Given the description of an element on the screen output the (x, y) to click on. 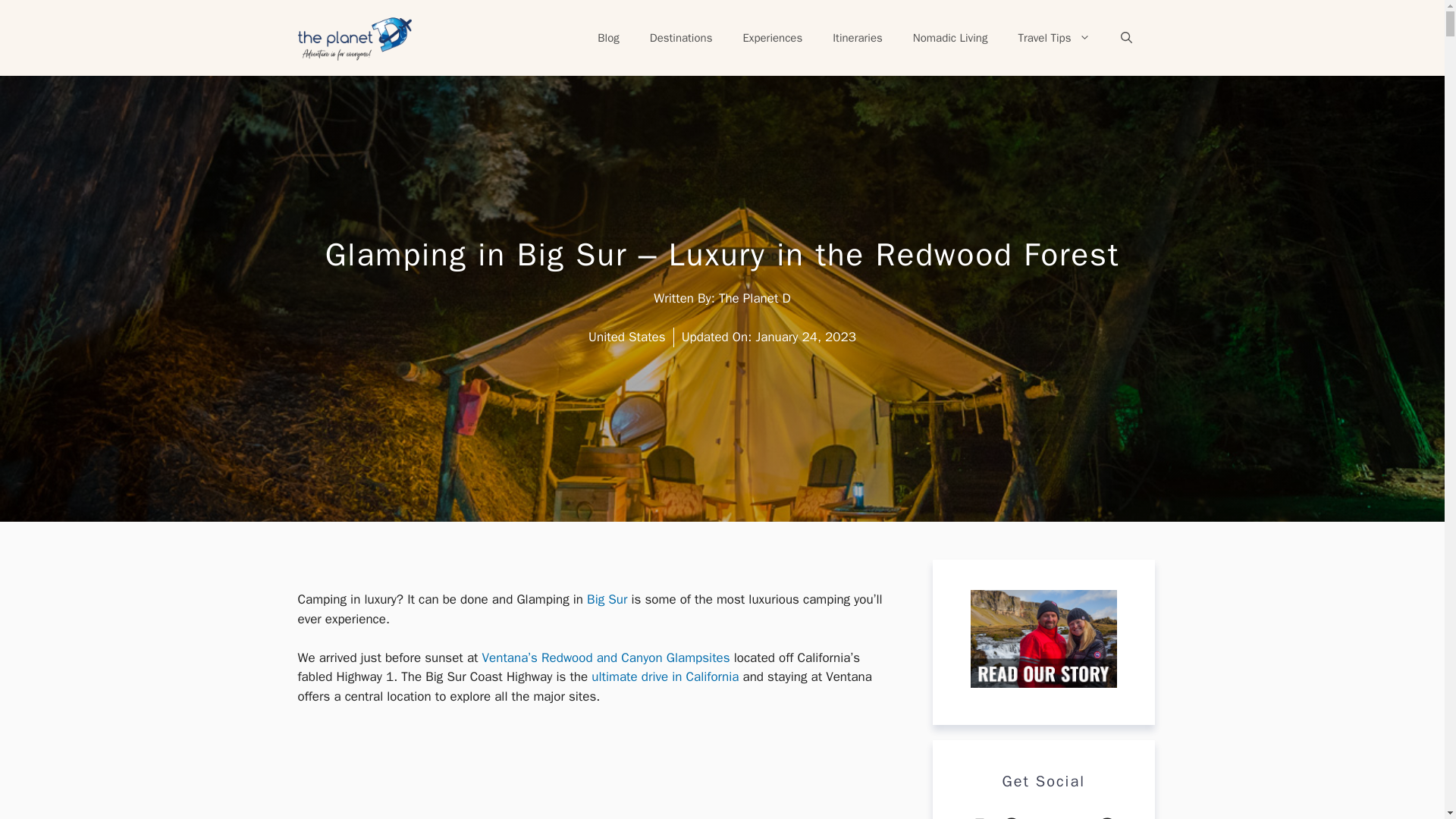
Experiences (771, 37)
ultimate drive in California (664, 676)
Big Sur (606, 599)
Travel Tips (1054, 37)
Itineraries (857, 37)
Nomadic Living (950, 37)
United States (626, 336)
Blog (607, 37)
The Planet D (754, 298)
Destinations (681, 37)
